Given the description of an element on the screen output the (x, y) to click on. 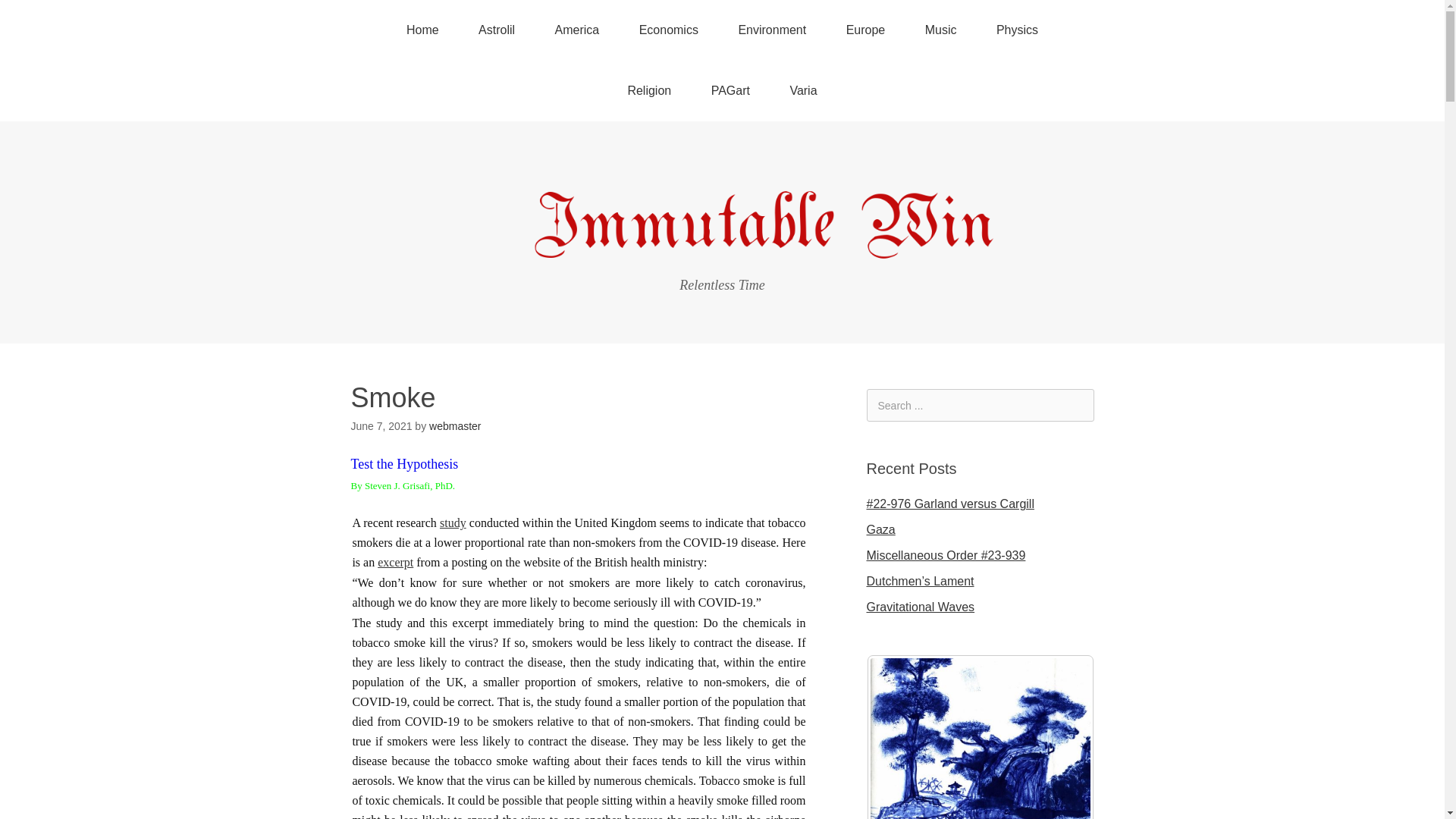
Astrolil (496, 30)
Immutable Win (721, 252)
Home (422, 30)
Search for: (979, 405)
Economics (668, 30)
Monday, June 7, 2021, 10:28 am (381, 426)
Posts by webmaster (454, 426)
America (577, 30)
Environment (771, 30)
